Given the description of an element on the screen output the (x, y) to click on. 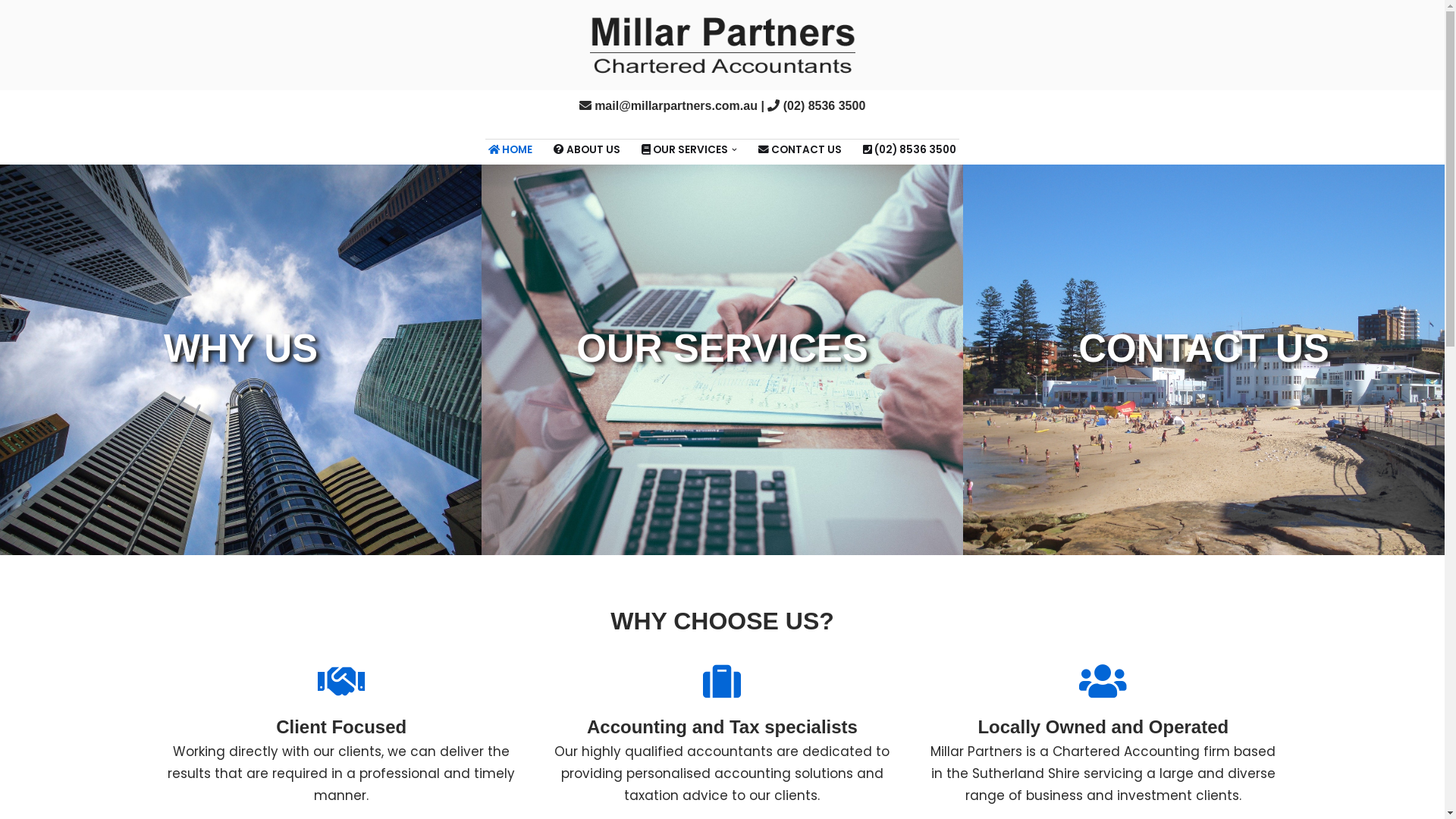
OUR SERVICES Element type: text (684, 148)
OUR SERVICES Element type: text (722, 359)
WHY US Element type: text (240, 359)
WHY US Element type: text (240, 357)
CONTACT US Element type: text (1203, 357)
ABOUT US Element type: text (586, 148)
mail@millarpartners.com.au Element type: text (675, 105)
Skip to content Element type: text (11, 31)
CONTACT US Element type: text (799, 148)
(02) 8536 3500 Element type: text (824, 105)
HOME Element type: text (510, 148)
CONTACT US Element type: text (1203, 359)
(02) 8536 3500 Element type: text (909, 148)
Millar Partners Element type: hover (722, 44)
OUR SERVICES Element type: text (722, 357)
